Given the description of an element on the screen output the (x, y) to click on. 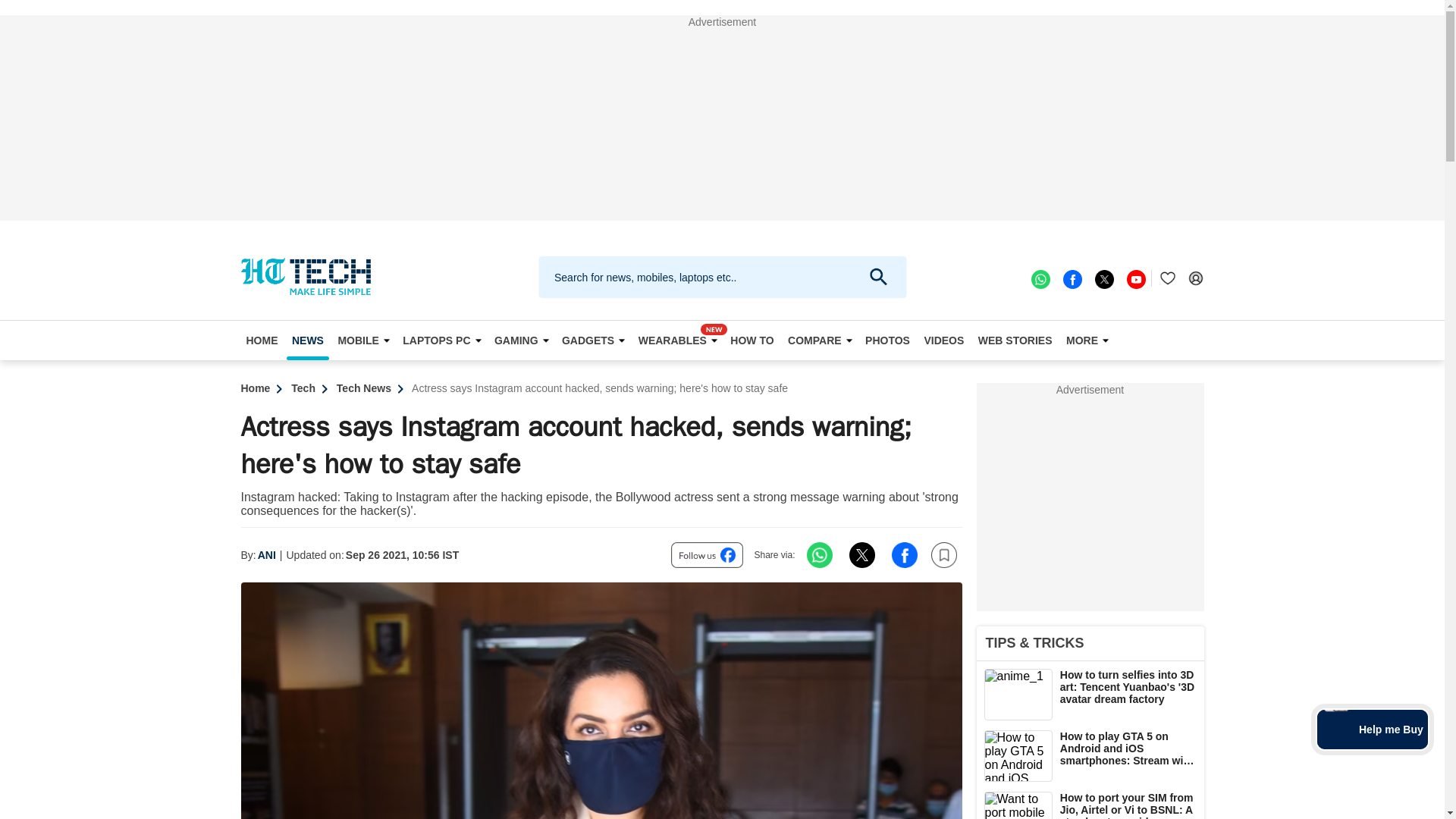
HOME (262, 340)
NEWS (307, 340)
HOW TO (751, 340)
COMPARE (820, 340)
facebook (1071, 278)
twitter (1103, 278)
youtube (1134, 278)
WhatsApp channel (1039, 278)
